Given the description of an element on the screen output the (x, y) to click on. 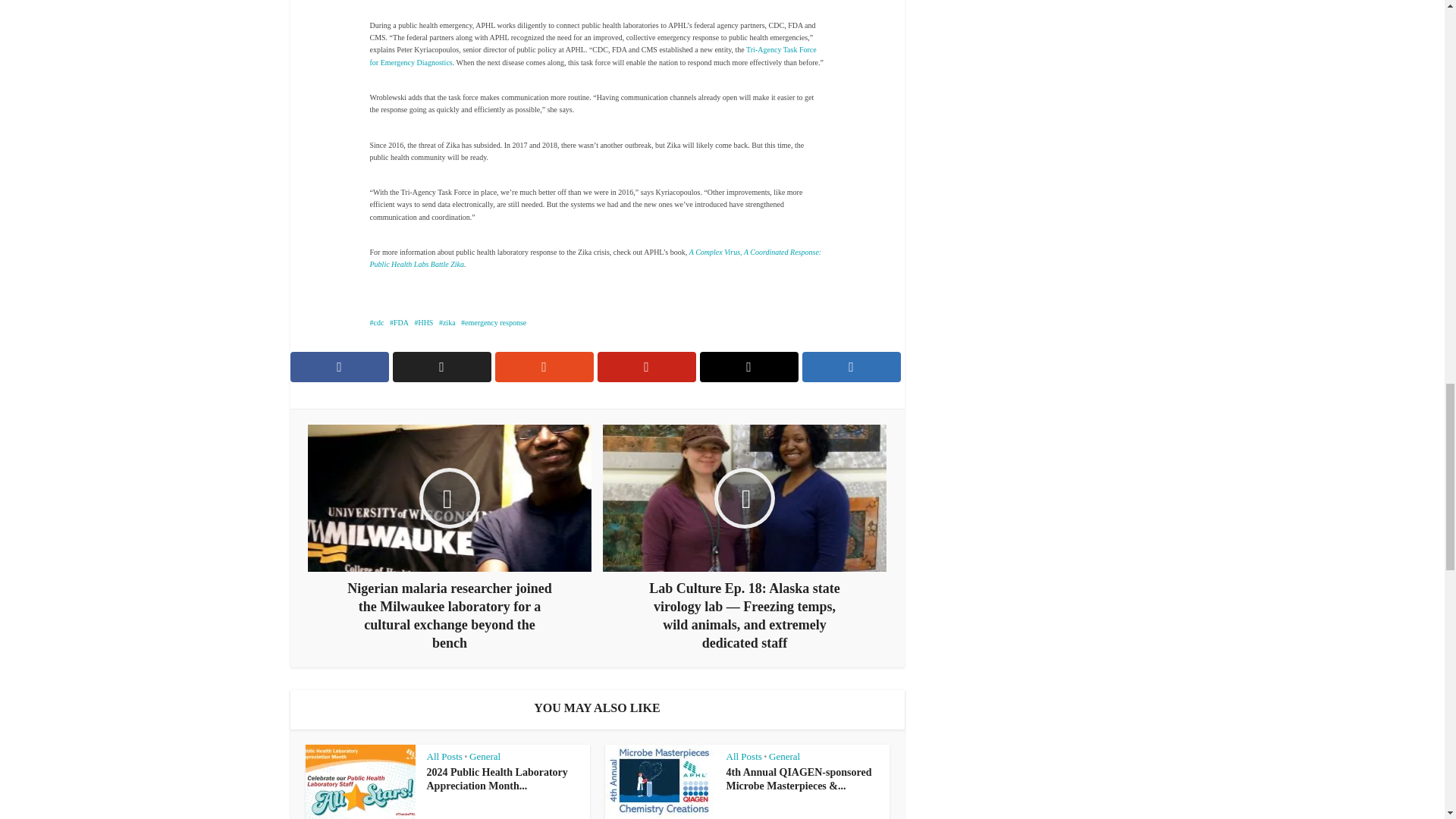
HHS (422, 322)
FDA (399, 322)
cdc (376, 322)
Tri-Agency Task Force for Emergency Diagnostics (592, 55)
zika (447, 322)
2024 Public Health Laboratory Appreciation Month Toolkit (496, 779)
emergency response (493, 322)
